Given the description of an element on the screen output the (x, y) to click on. 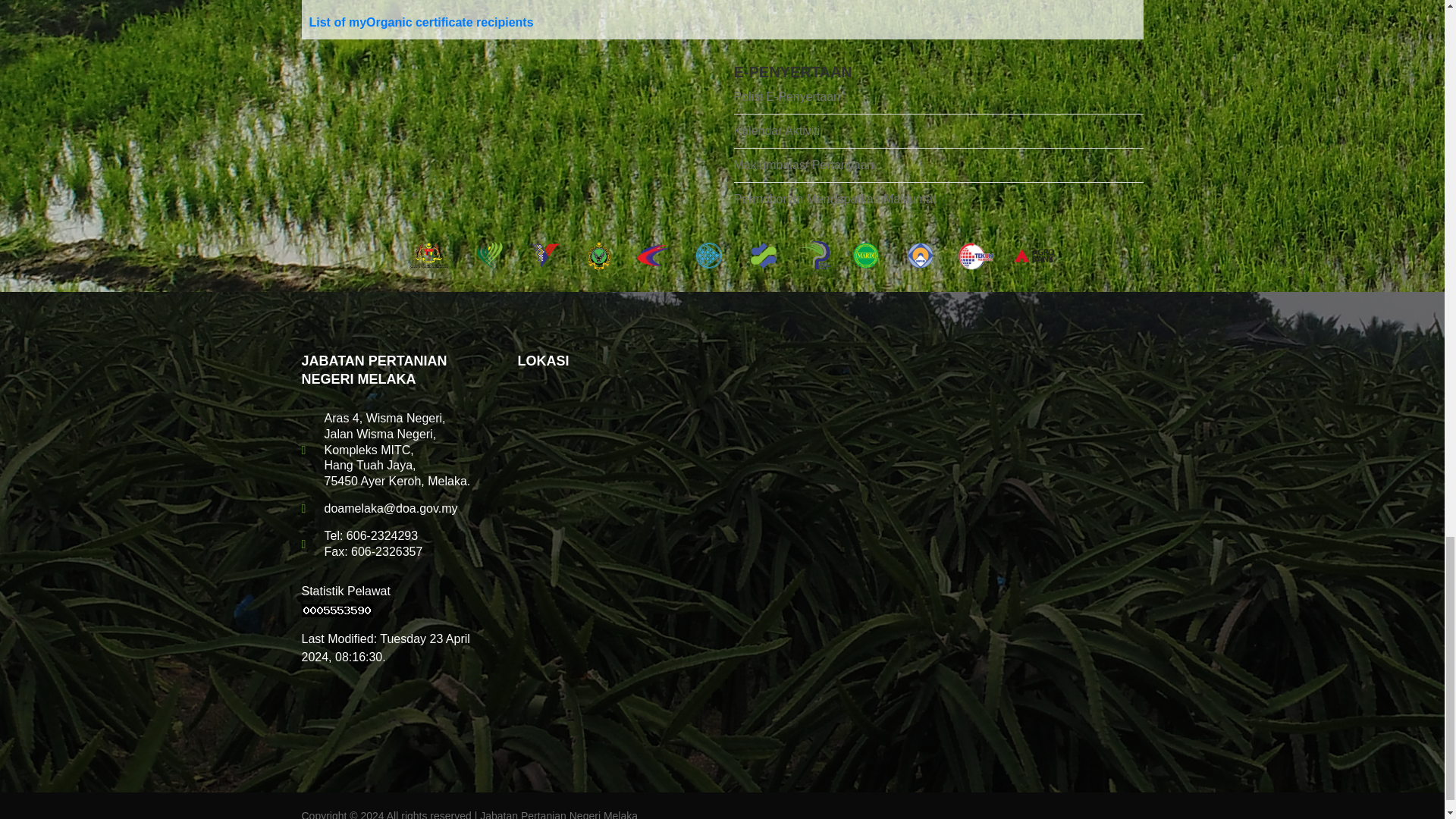
Kalendar Aktiviti (937, 131)
Polisi E-Penyertaan (937, 100)
Permohonan Mendapatkan Maklumat (937, 195)
List of myOrganic certificate recipients (421, 21)
